Given the description of an element on the screen output the (x, y) to click on. 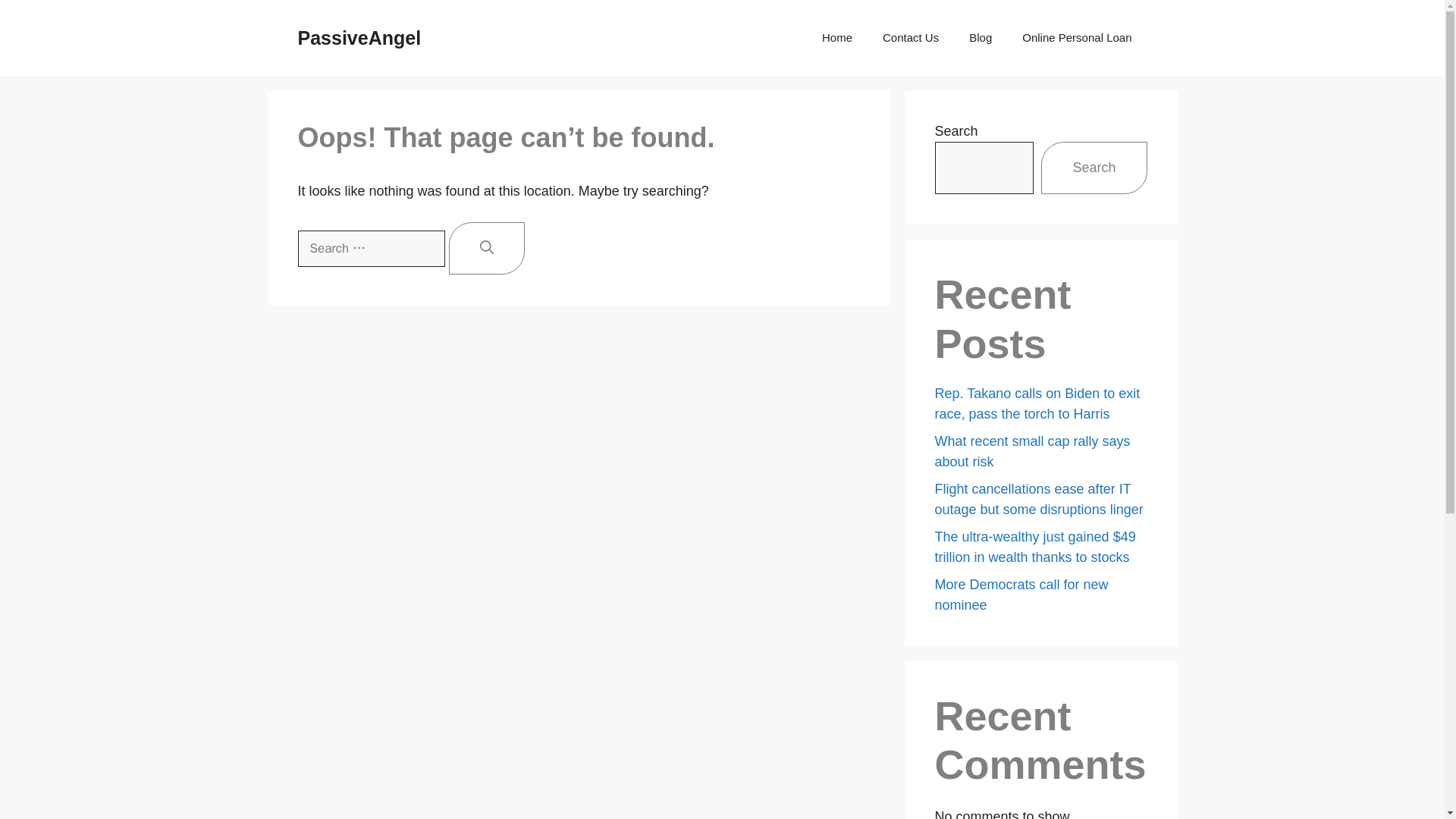
What recent small cap rally says about risk (1031, 451)
Online Personal Loan (1077, 37)
Blog (980, 37)
Home (836, 37)
Search for: (370, 248)
Contact Us (910, 37)
More Democrats call for new nominee (1021, 594)
PassiveAngel (358, 37)
Search (1094, 167)
